Given the description of an element on the screen output the (x, y) to click on. 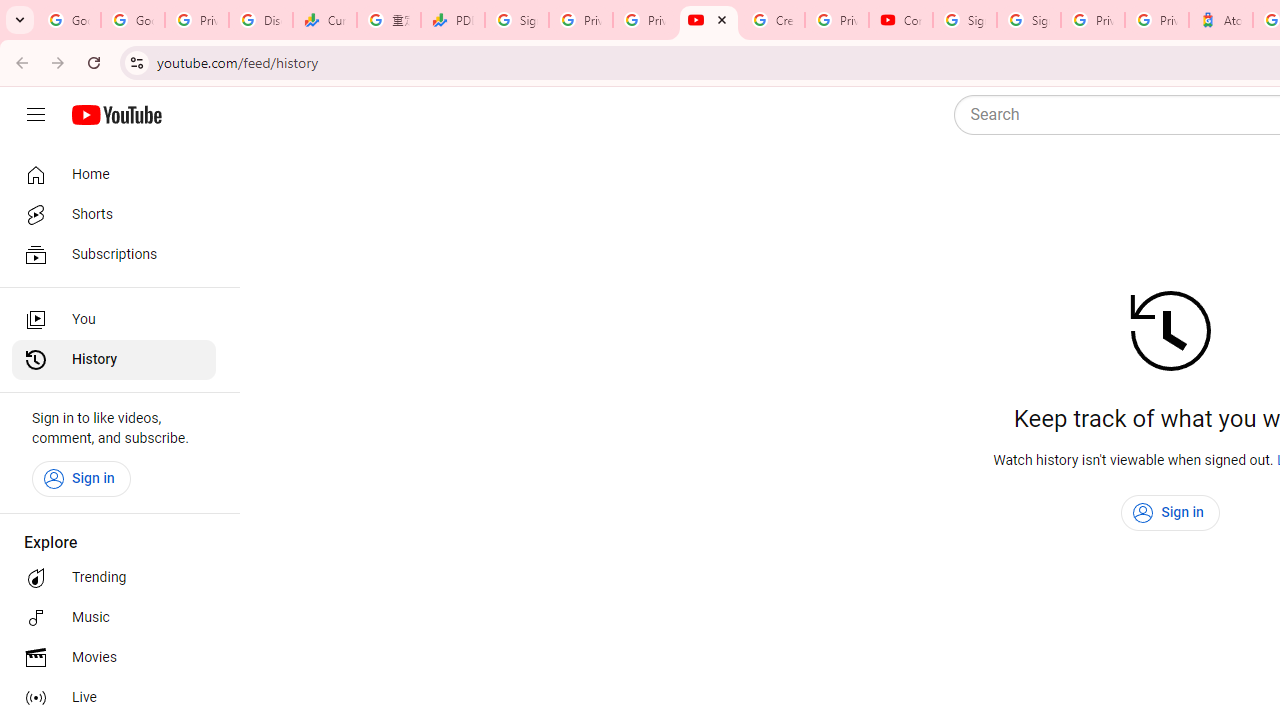
PDD Holdings Inc - ADR (PDD) Price & News - Google Finance (453, 20)
Sign in - Google Accounts (965, 20)
YouTube (709, 20)
Atour Hotel - Google hotels (1221, 20)
